Given the description of an element on the screen output the (x, y) to click on. 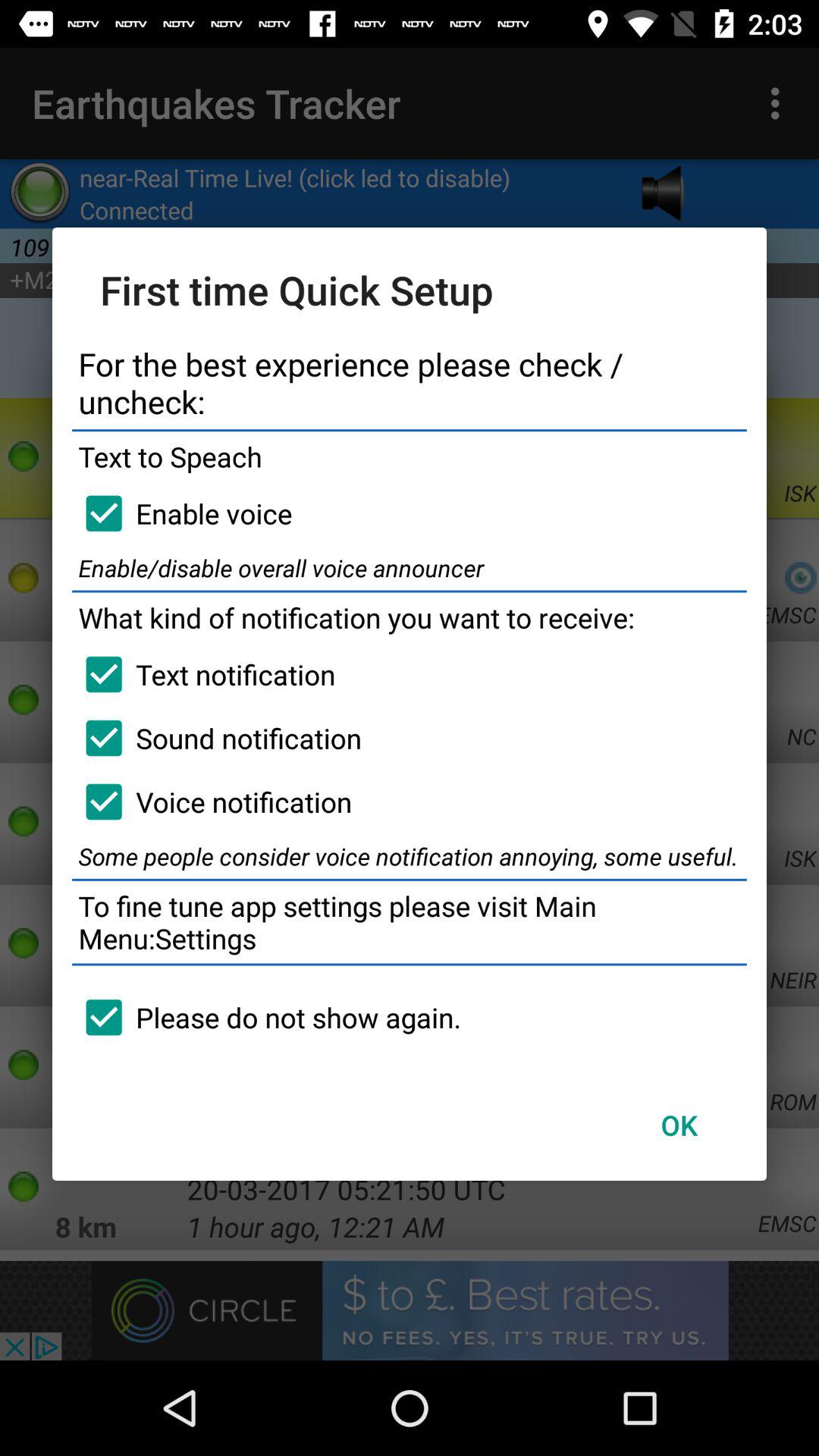
launch the item above the voice notification item (216, 738)
